Given the description of an element on the screen output the (x, y) to click on. 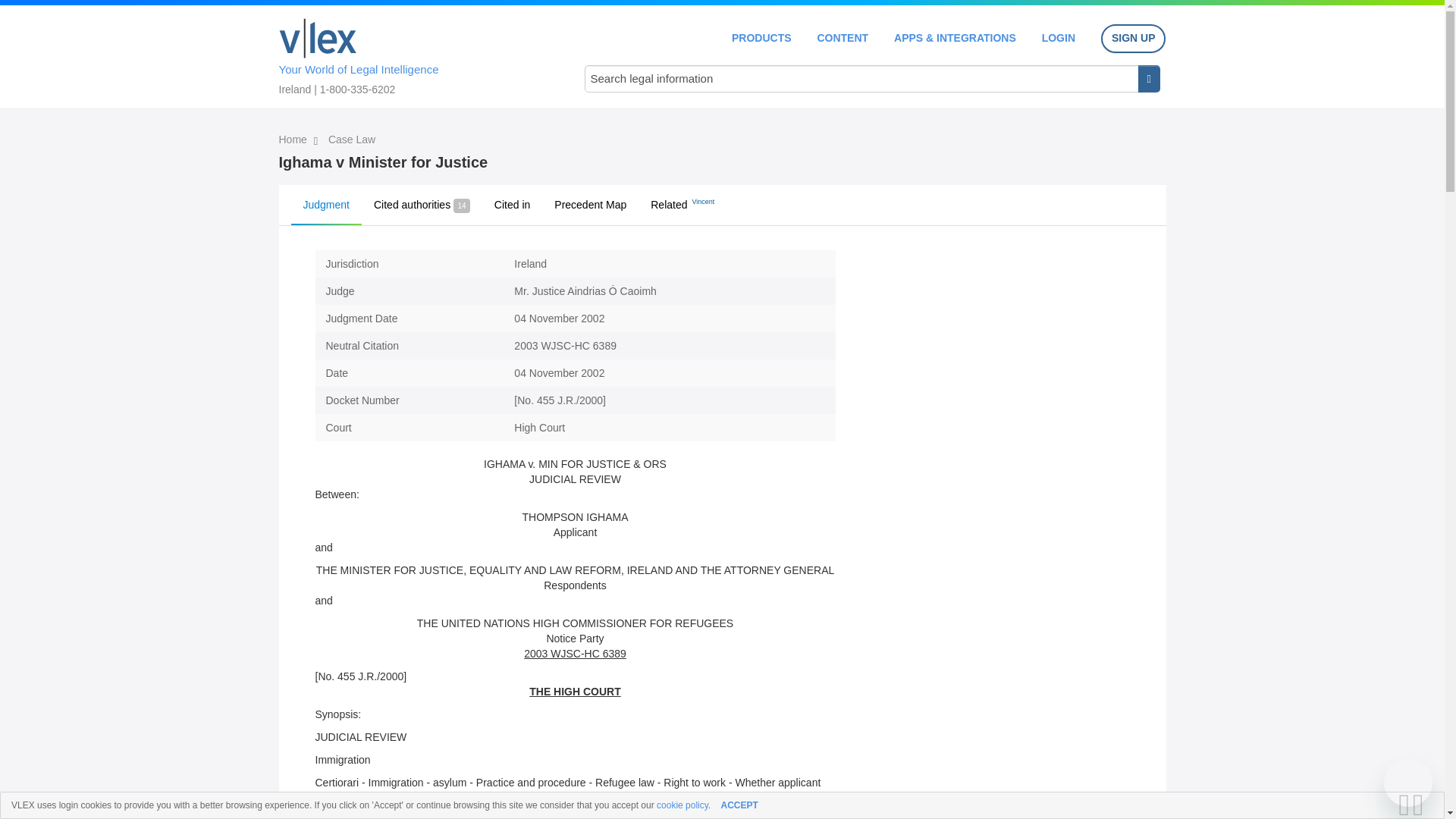
SIGN UP (1133, 38)
Your World of Legal Intelligence (416, 53)
Case Law (352, 139)
Home (317, 38)
Refugee Act, 1996 (507, 812)
Home (294, 139)
LOGIN (1058, 37)
CONTENT (841, 37)
PRODUCTS (762, 37)
